Given the description of an element on the screen output the (x, y) to click on. 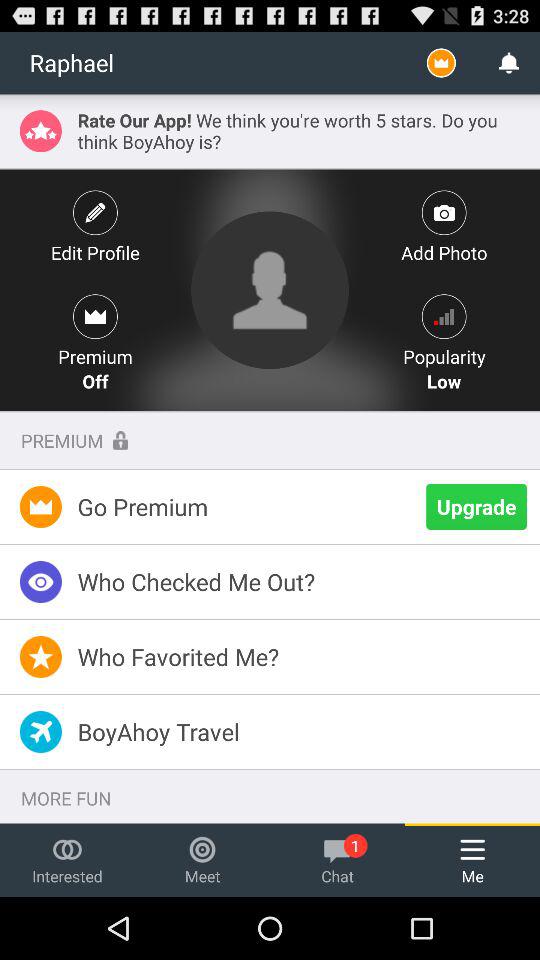
view or edit personal image (269, 290)
